Given the description of an element on the screen output the (x, y) to click on. 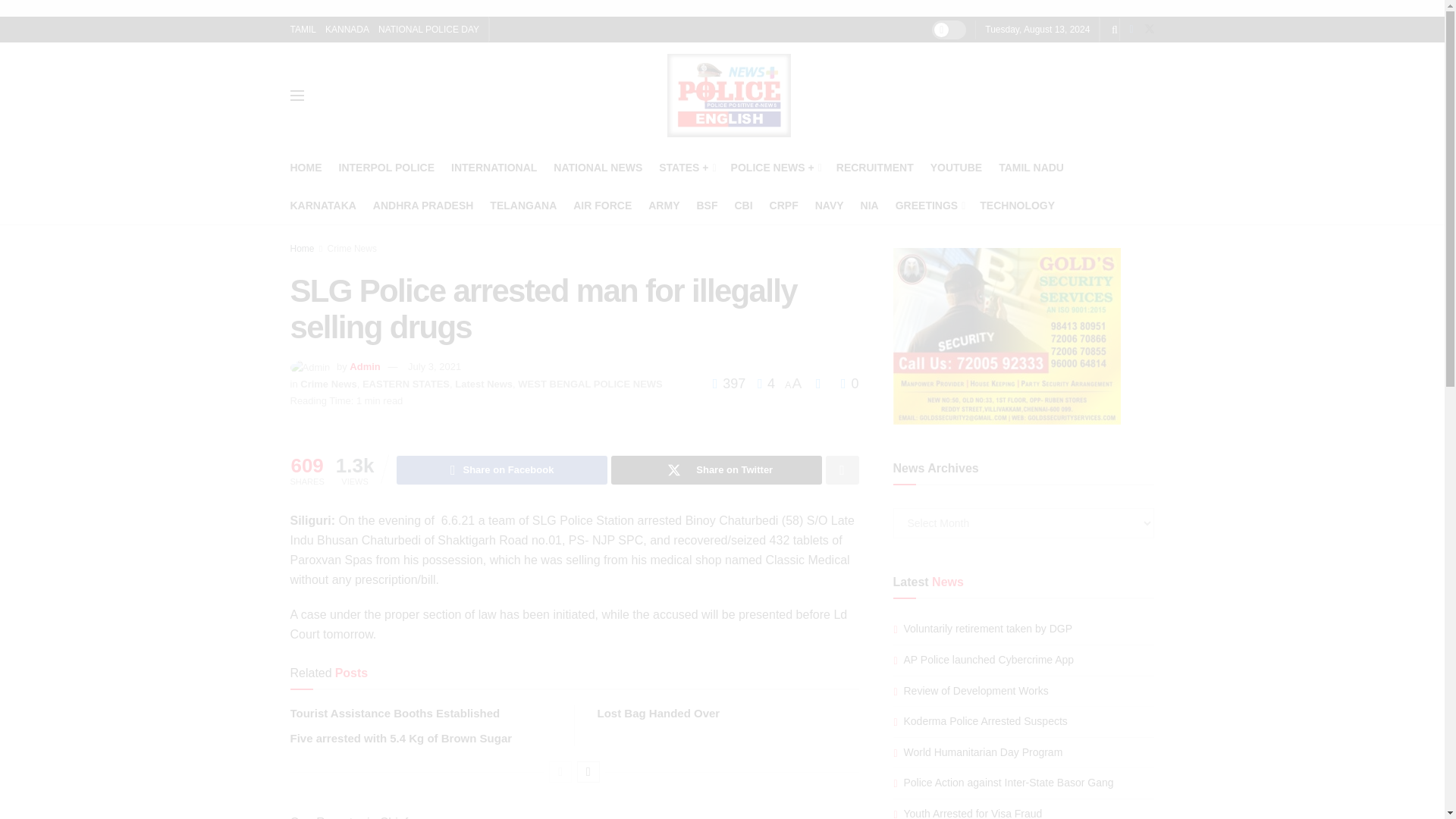
Previous (560, 771)
KANNADA (346, 29)
RECRUITMENT (874, 167)
AIR FORCE (602, 205)
INTERNATIONAL (494, 167)
NATIONAL POLICE DAY (428, 29)
TAMIL (302, 29)
INTERPOL POLICE (385, 167)
Next (587, 771)
TELANGANA (522, 205)
